Given the description of an element on the screen output the (x, y) to click on. 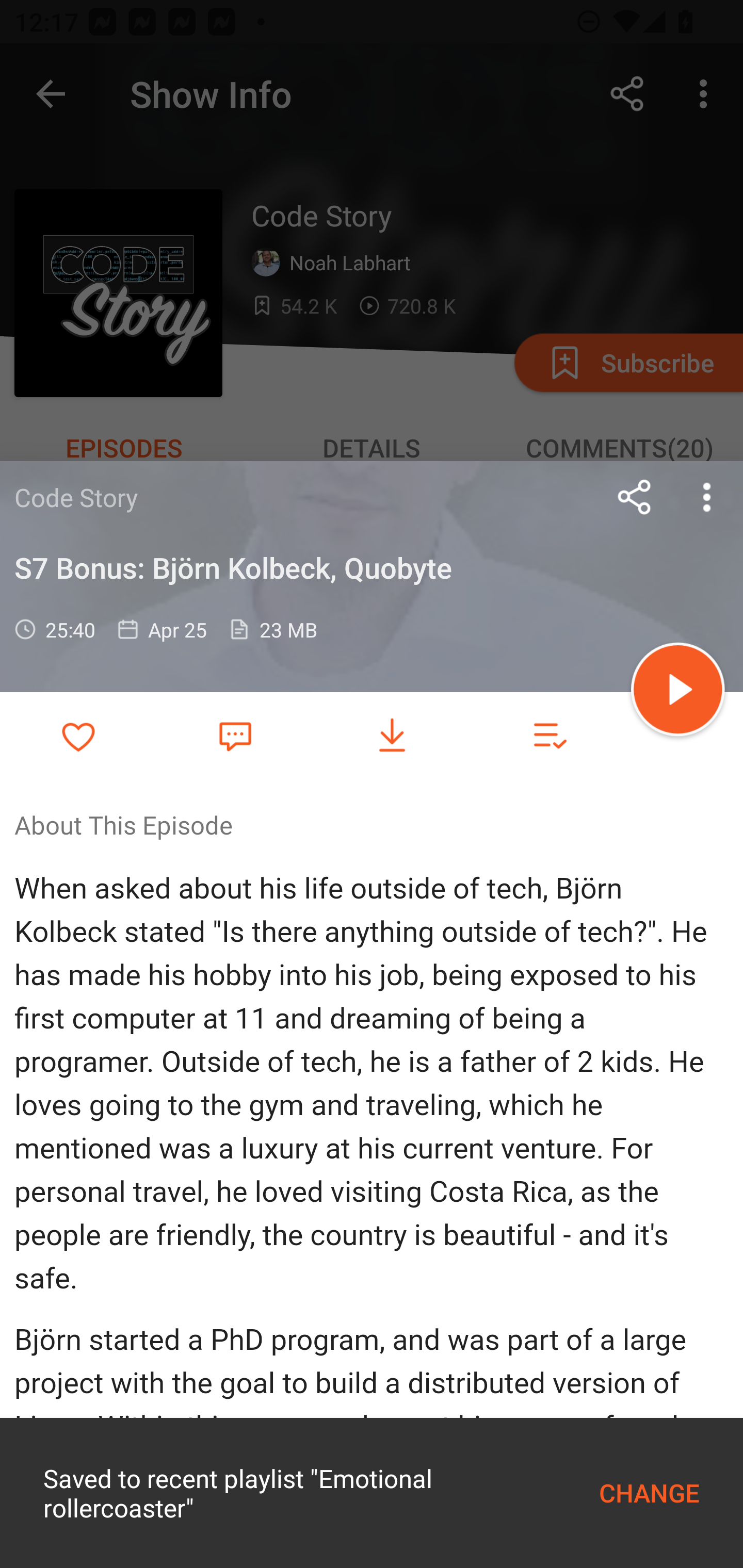
Share (634, 496)
more options (706, 496)
Play (677, 692)
Favorite (234, 735)
Add to Favorites (78, 735)
Download (391, 735)
Add to playlist (548, 735)
CHANGE (648, 1492)
